Given the description of an element on the screen output the (x, y) to click on. 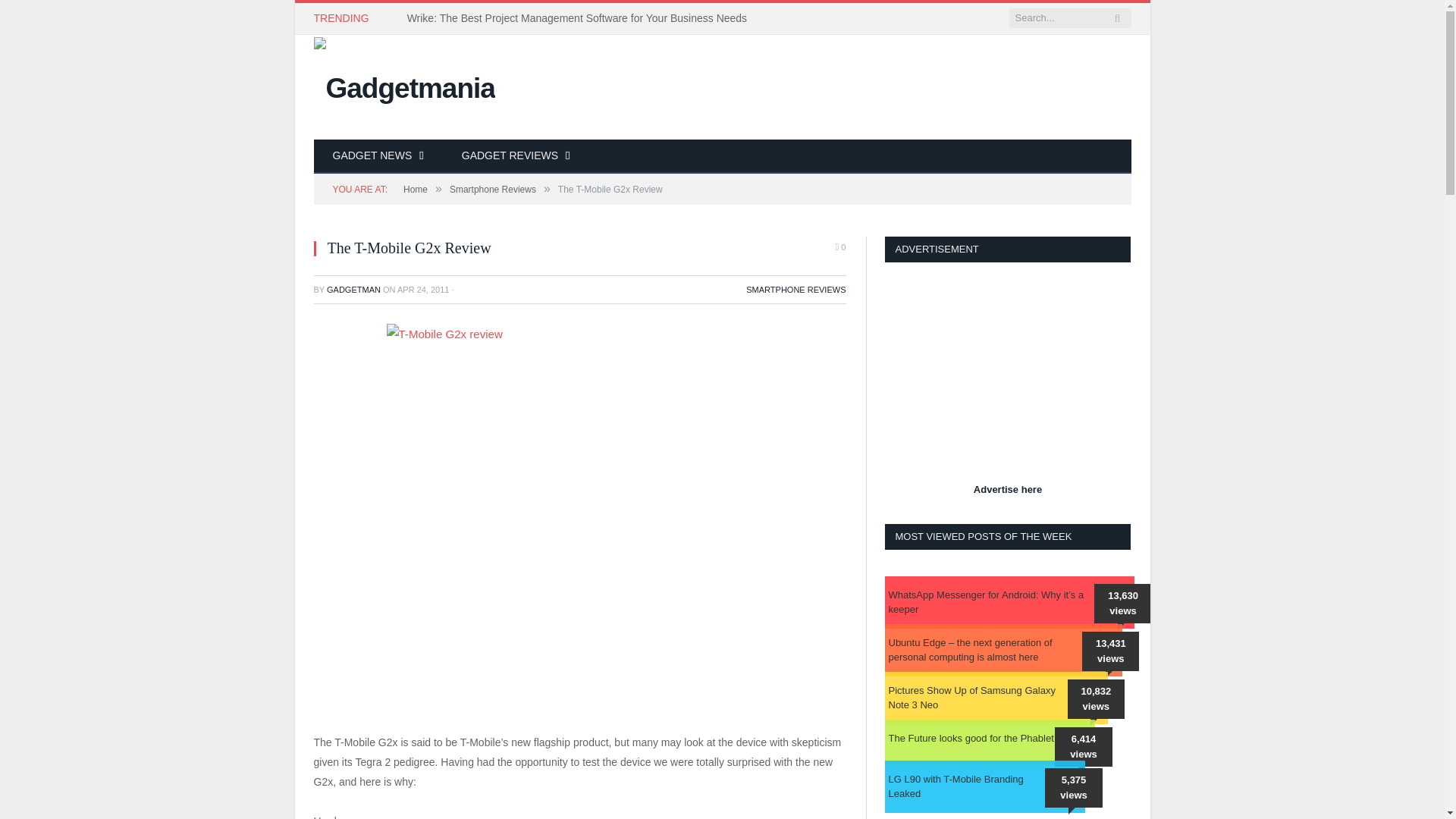
Smartphone Reviews (492, 189)
Gadgetmania (404, 85)
GADGETMAN (353, 289)
GADGET REVIEWS (515, 156)
Home (415, 189)
SMARTPHONE REVIEWS (795, 289)
GADGET NEWS (378, 156)
